Given the description of an element on the screen output the (x, y) to click on. 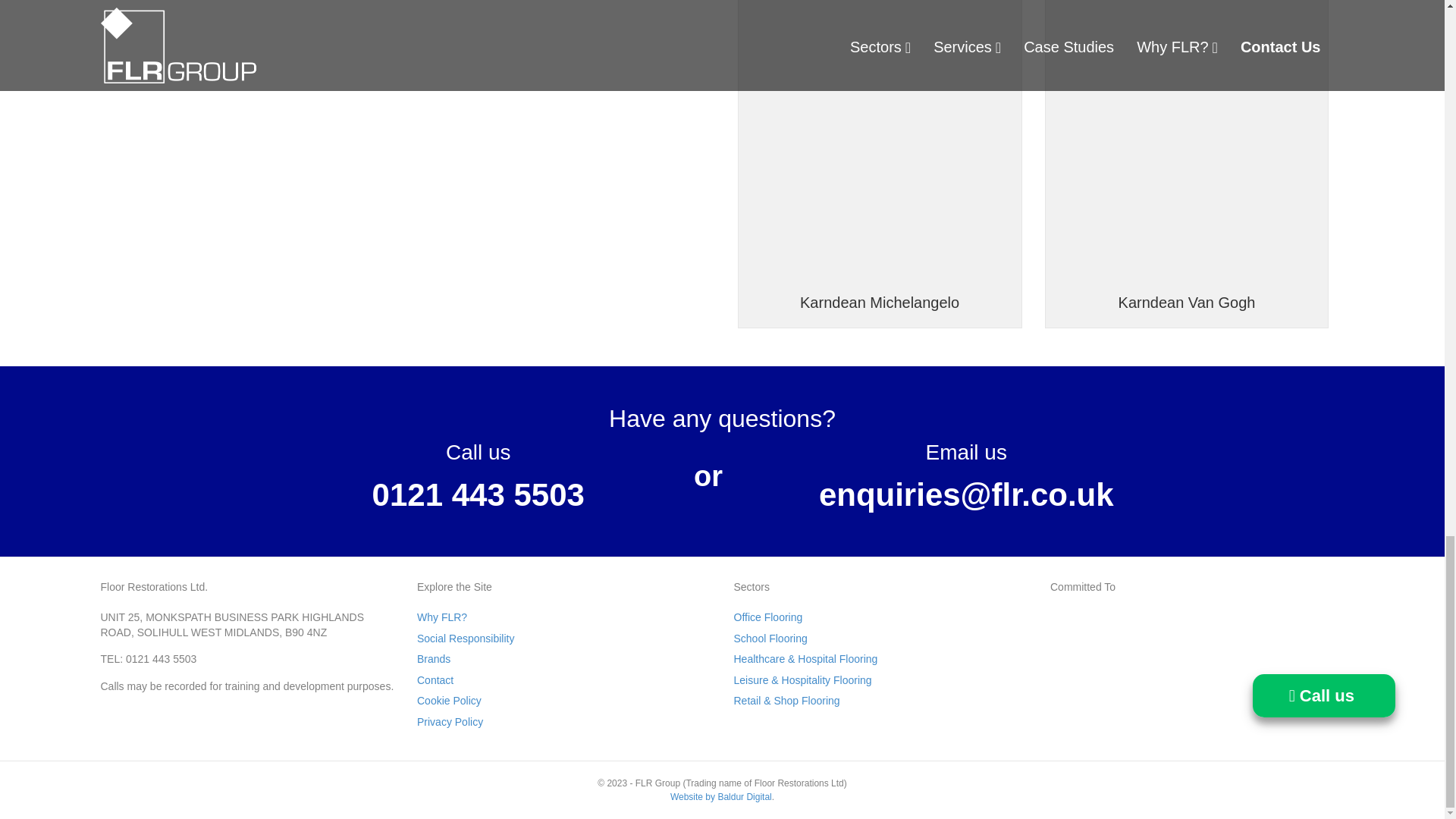
Karndean Michelangelo (879, 302)
Karndean Michelangelo (880, 134)
Karndean Van Gogh (1186, 134)
Karndean Van Gogh (1186, 302)
